Given the description of an element on the screen output the (x, y) to click on. 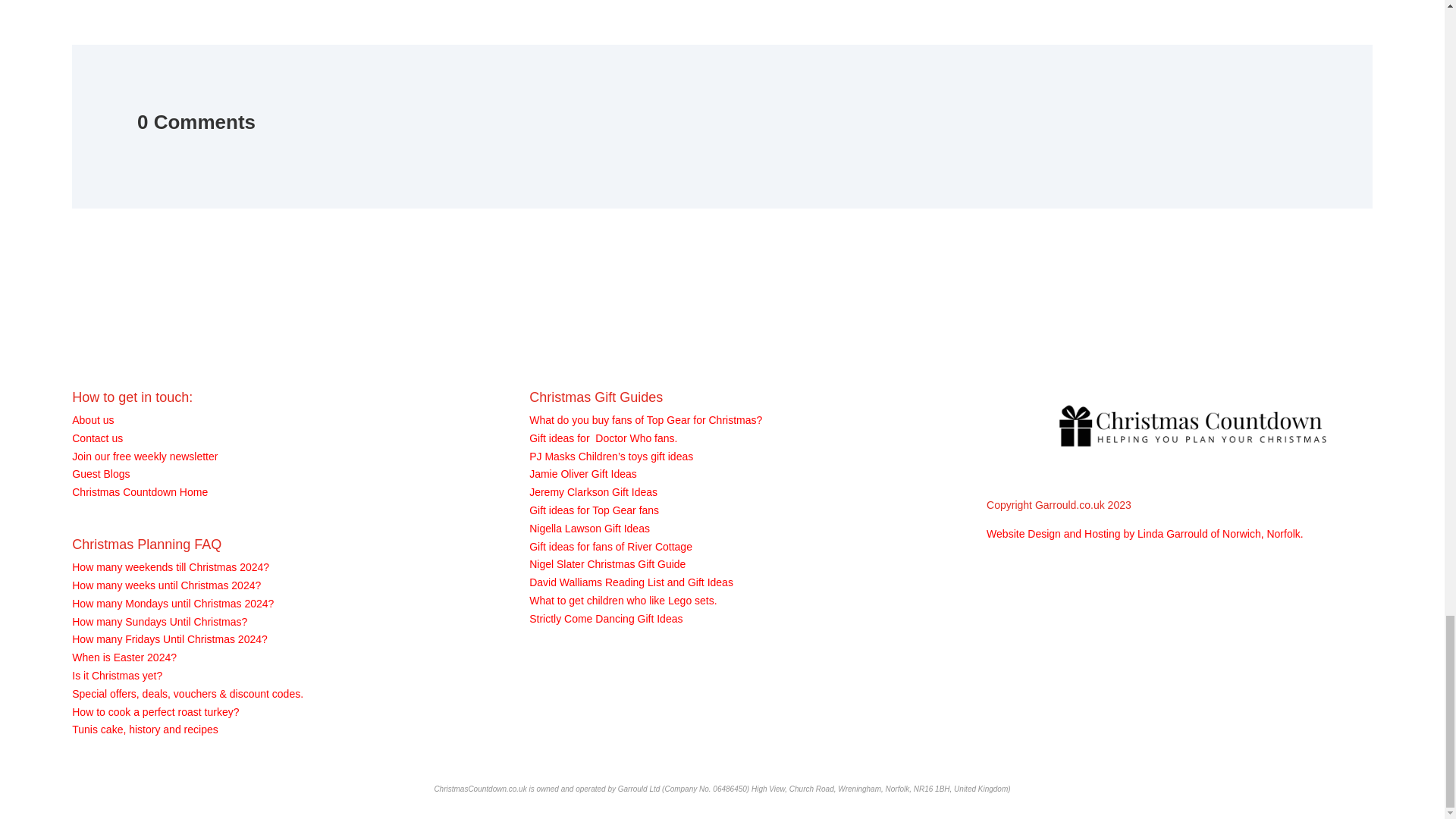
Contact us (96, 438)
Christmas Countdown Home (139, 491)
Guest Blogs (100, 473)
Join our free weekly newsletter (143, 456)
How many weekends till Christmas 2024? (170, 567)
About us (92, 419)
Contact Us (96, 438)
Submit a guest blog (100, 473)
Christmas Countdown Home (139, 491)
